Given the description of an element on the screen output the (x, y) to click on. 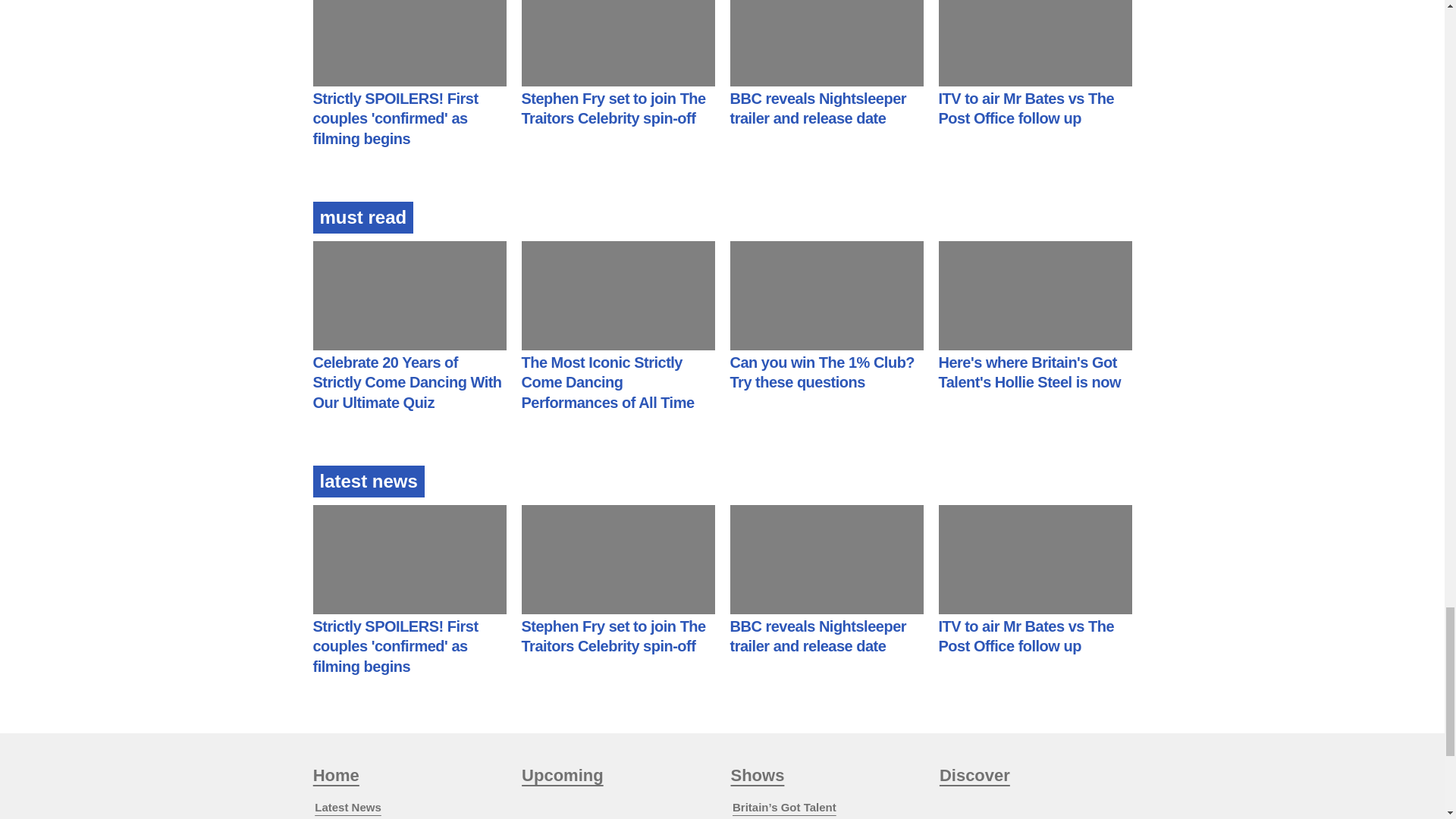
BBC reveals Nightsleeper trailer and release date (817, 108)
Stephen Fry set to join The Traitors Celebrity spin-off (613, 108)
